Given the description of an element on the screen output the (x, y) to click on. 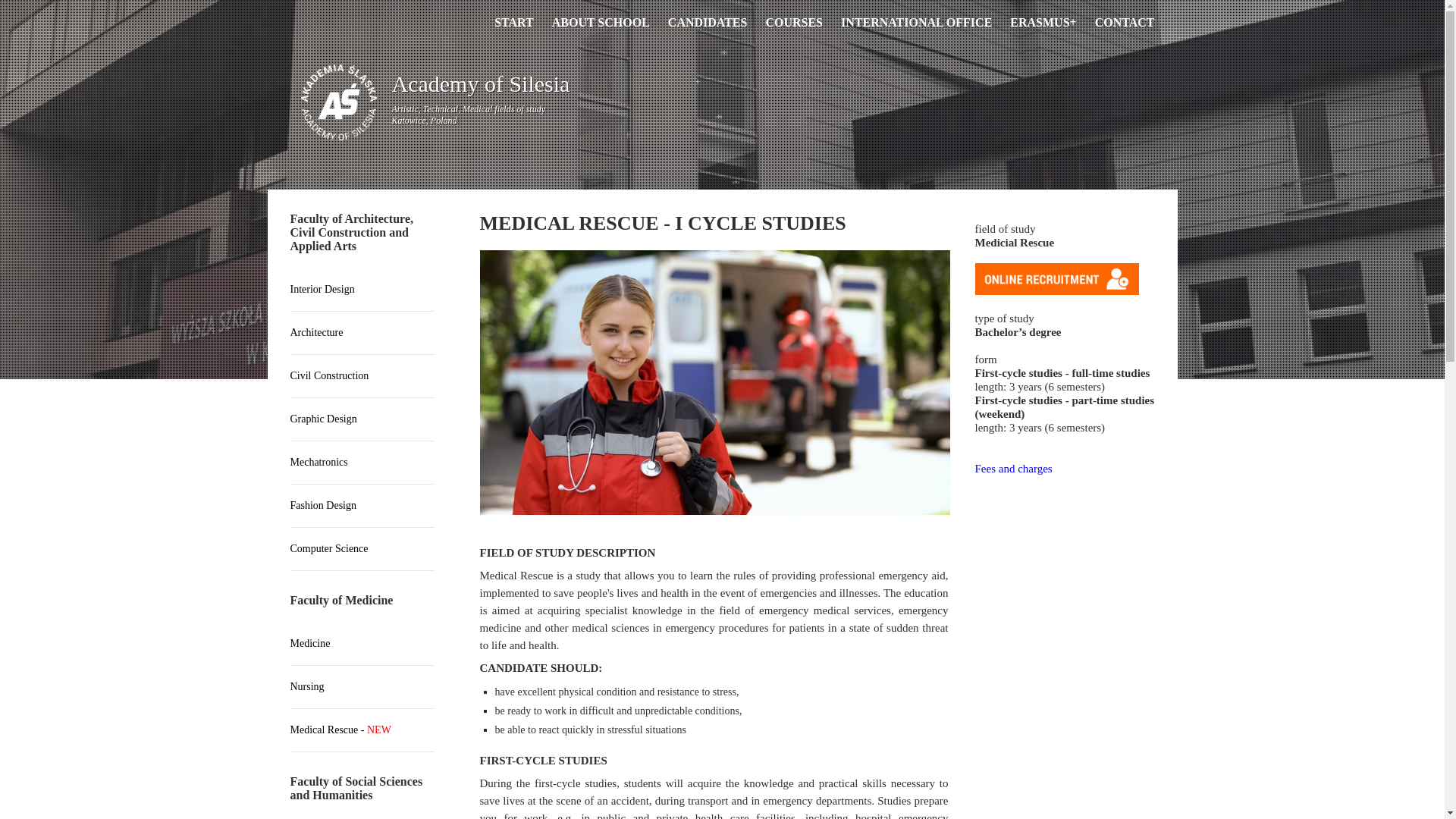
About School (601, 21)
ABOUT SCHOOL (601, 21)
START (513, 21)
COURSES (793, 21)
CONTACT (1124, 21)
CANDIDATES (708, 21)
INTERNATIONAL OFFICE (915, 21)
